Given the description of an element on the screen output the (x, y) to click on. 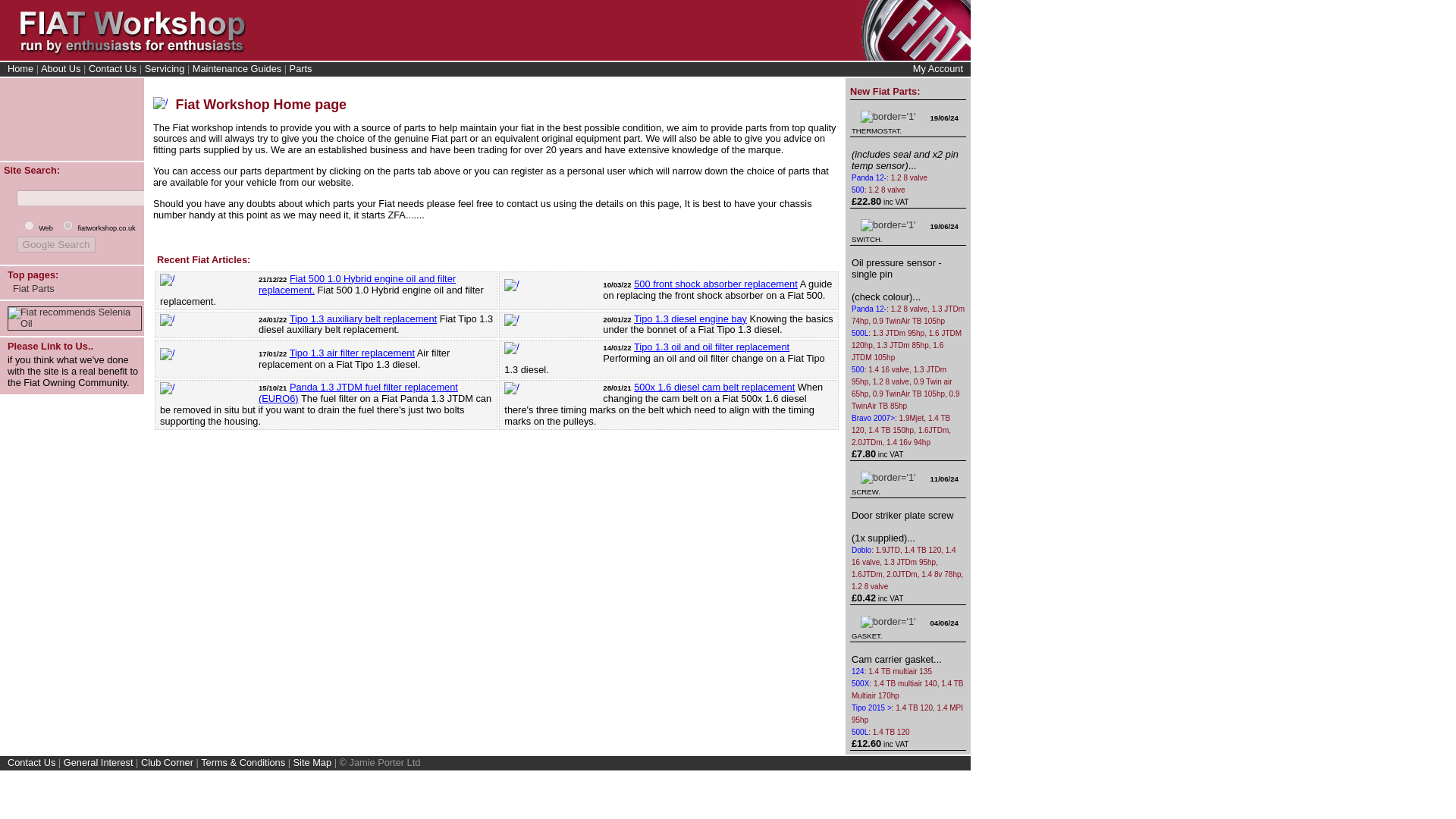
fiatworkshop.co.uk (67, 225)
Contact Us (112, 68)
Tipo 1.3 diesel engine bay (689, 318)
Doblo (860, 550)
Google Search (56, 244)
500 front shock absorber replacement (715, 283)
Home (20, 68)
Maintenance Guides (236, 68)
500L (859, 732)
Tipo 1.3 oil and oil filter replacement (711, 346)
